Given the description of an element on the screen output the (x, y) to click on. 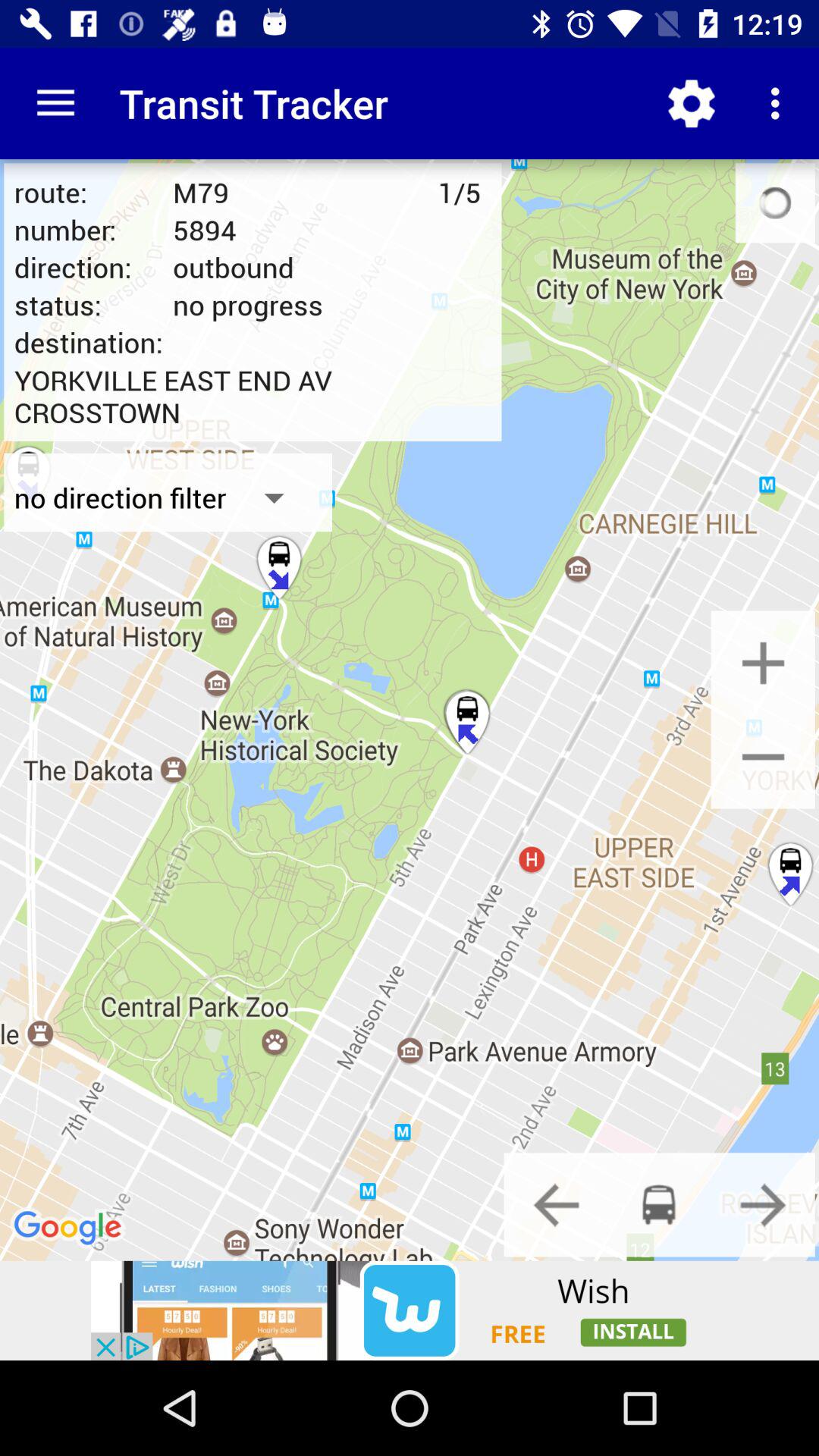
go to increase (762, 662)
